Given the description of an element on the screen output the (x, y) to click on. 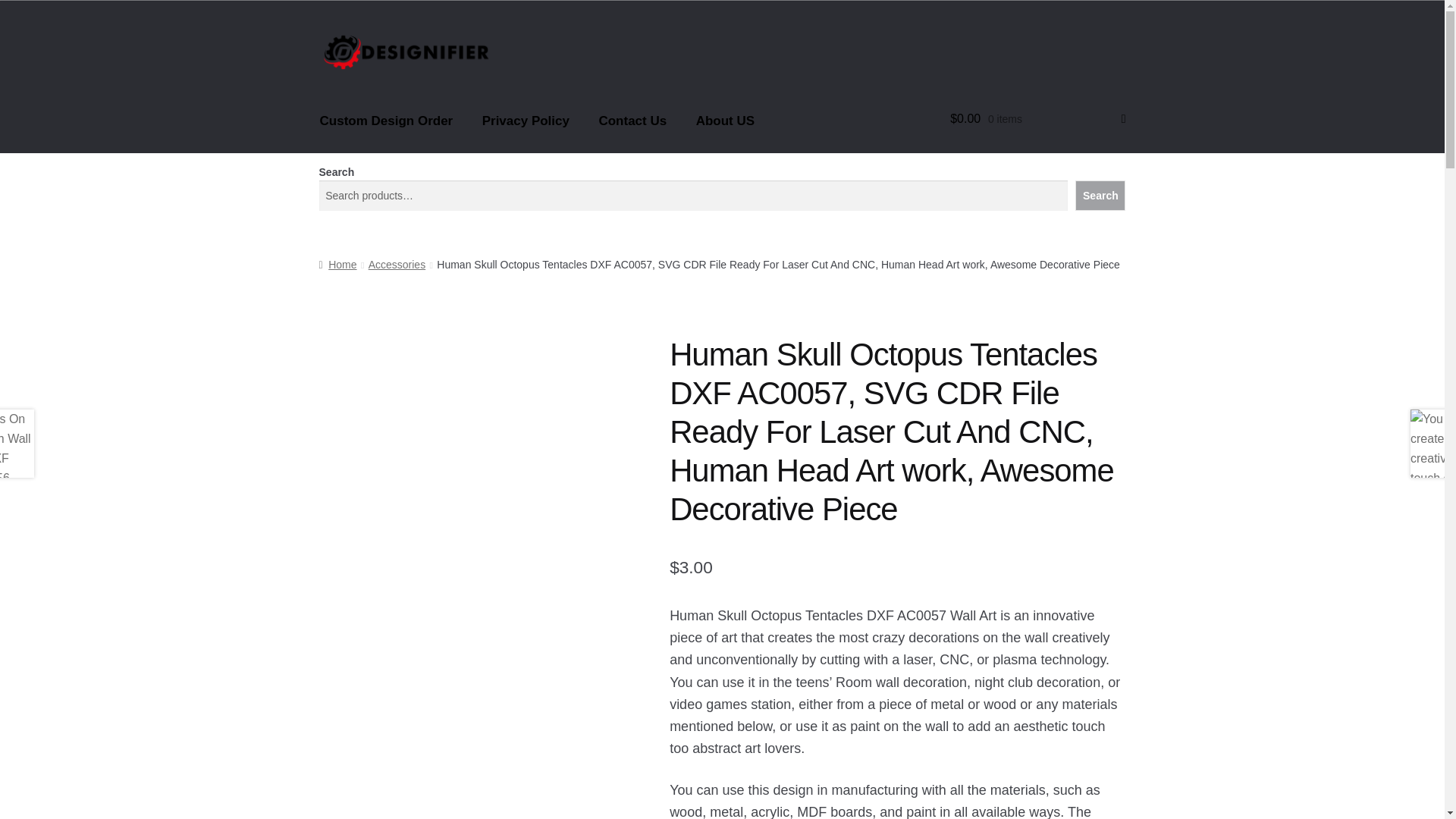
Contact Us (632, 120)
About US (724, 120)
Privacy Policy (525, 120)
View your shopping cart (1037, 118)
Custom Design Order (386, 120)
Search (1100, 195)
